Given the description of an element on the screen output the (x, y) to click on. 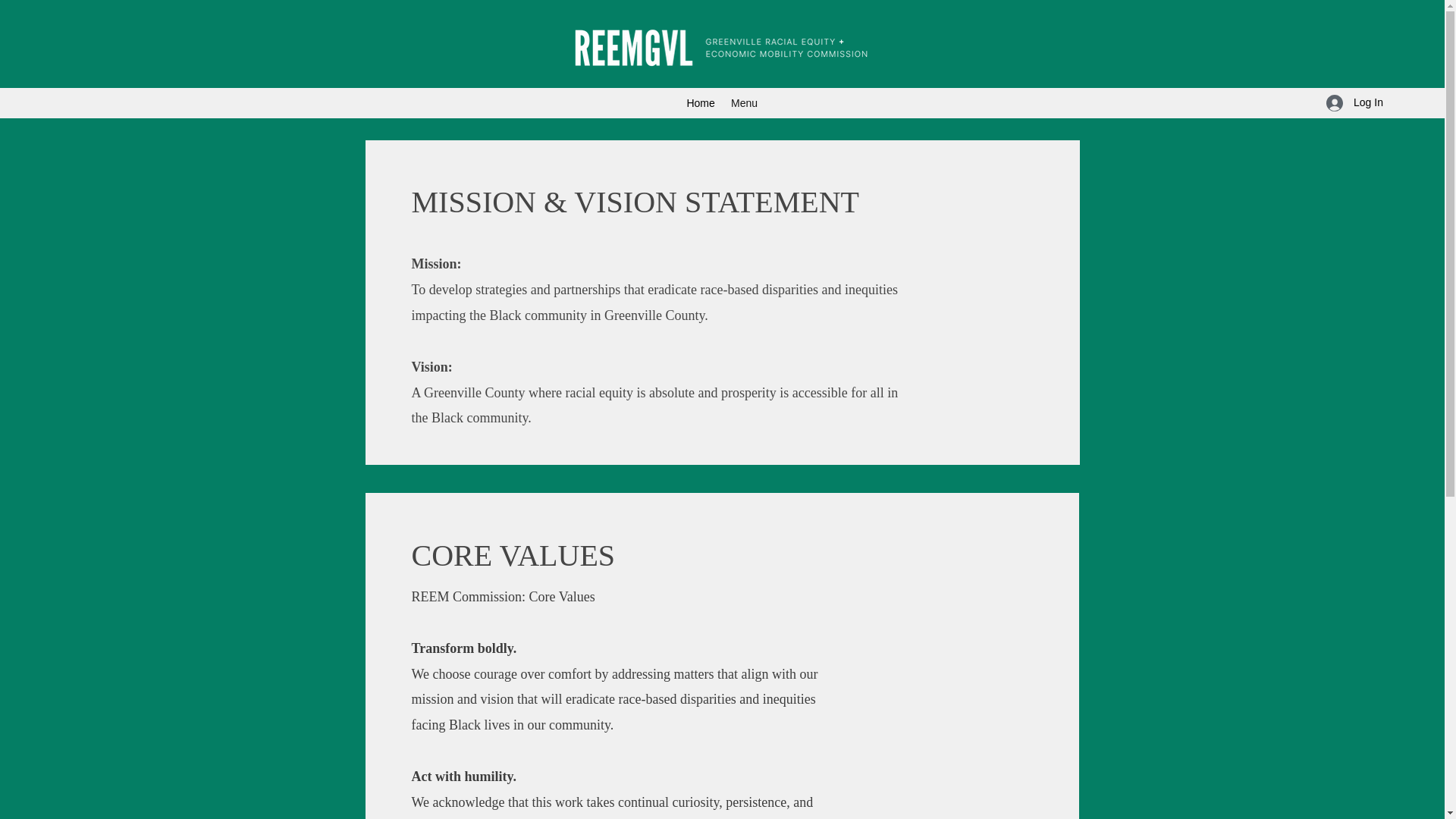
Home (700, 102)
Log In (1350, 102)
Menu (744, 102)
